Given the description of an element on the screen output the (x, y) to click on. 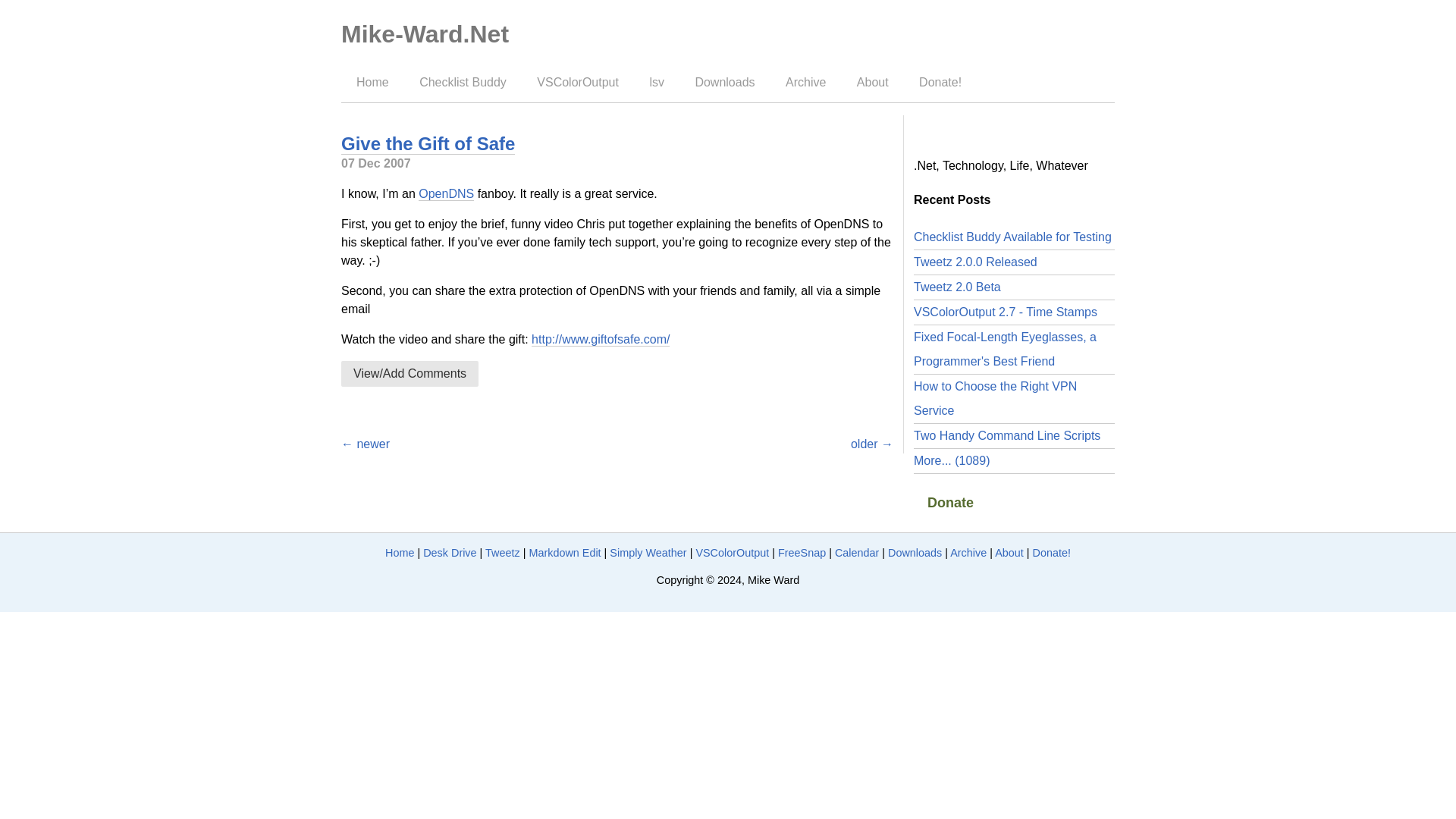
Calendar (856, 552)
About (871, 82)
Tweetz (501, 552)
Downloads (915, 552)
Donate (950, 503)
Home (370, 82)
Email Feed (971, 133)
VSColorOutput 2.7 - Time Stamps (1005, 311)
FreeSnap (801, 552)
Downloads (723, 82)
